Given the description of an element on the screen output the (x, y) to click on. 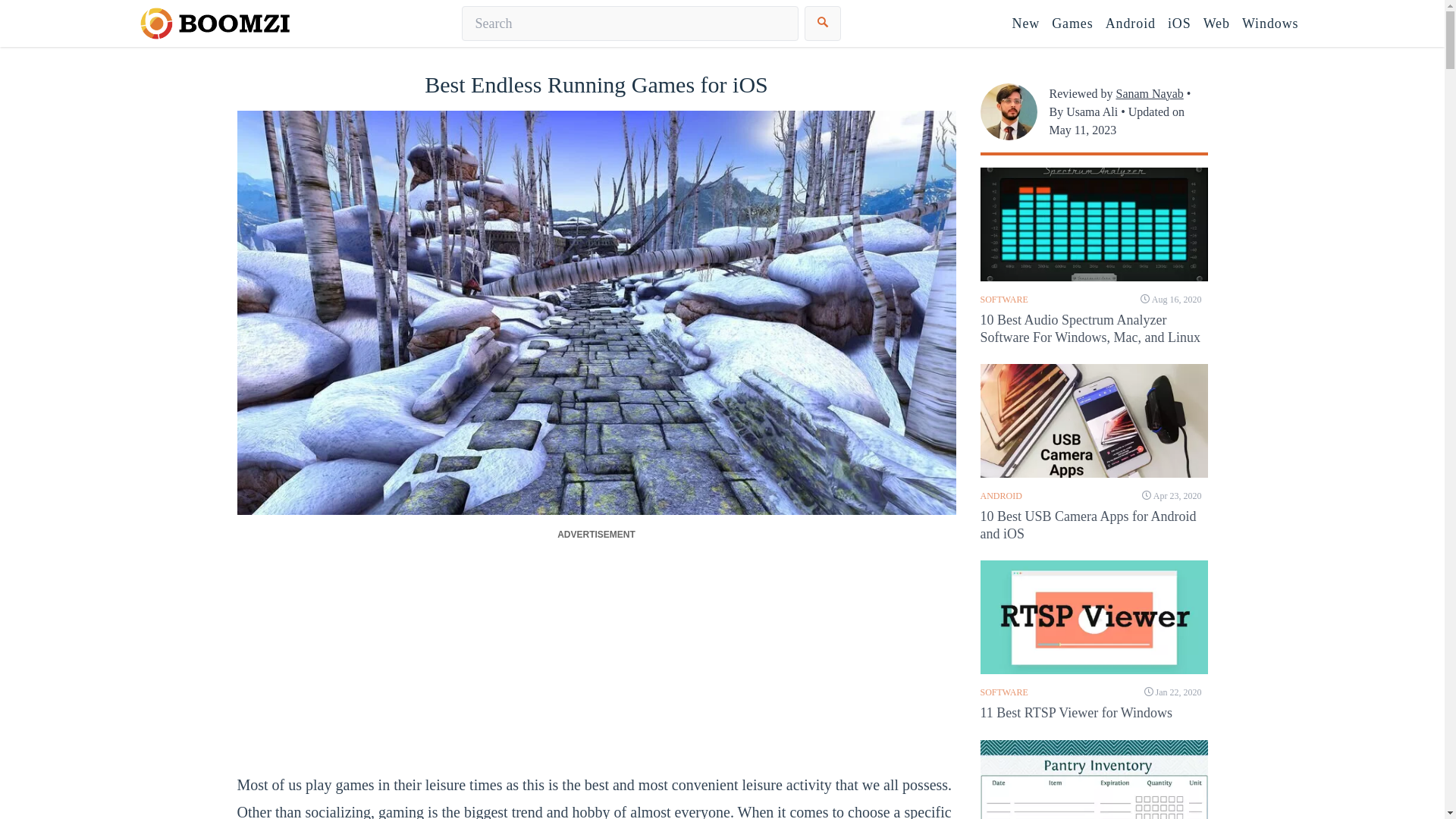
Web (1216, 23)
New (1025, 23)
iOS (1178, 23)
Games (1072, 23)
Android (1130, 23)
Windows (1270, 23)
